Given the description of an element on the screen output the (x, y) to click on. 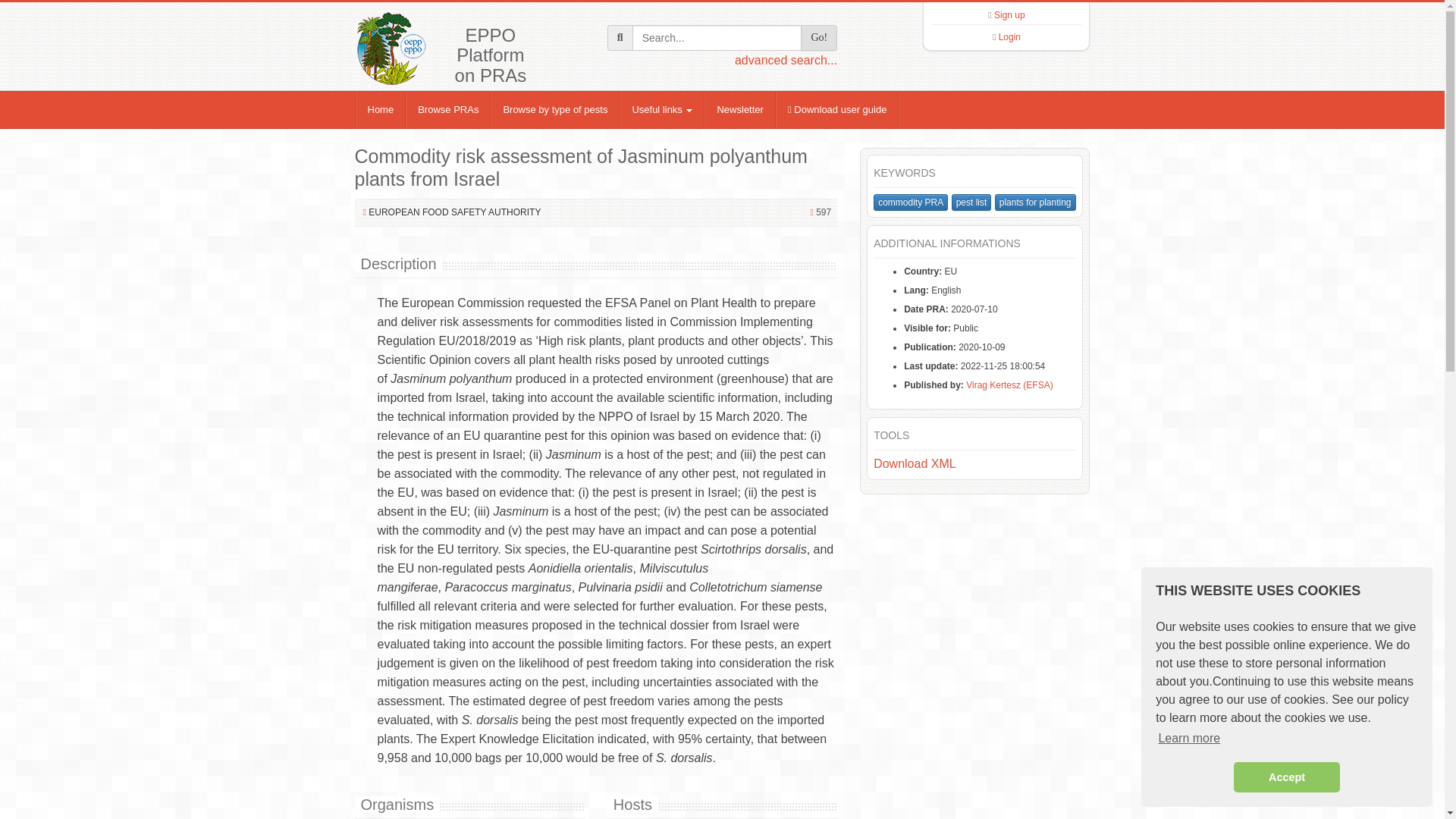
pest list (971, 202)
Sign up (1009, 14)
plants for planting (1034, 202)
Browse PRAs (448, 109)
EUROPEAN FOOD SAFETY AUTHORITY (454, 212)
Download XML (914, 463)
Login (1009, 36)
commodity PRA (910, 202)
Browse by type of pests (555, 109)
Accept (1286, 777)
Newsletter (739, 109)
Go! (818, 37)
advanced search... (786, 60)
Download user guide (837, 109)
Useful links (662, 109)
